Given the description of an element on the screen output the (x, y) to click on. 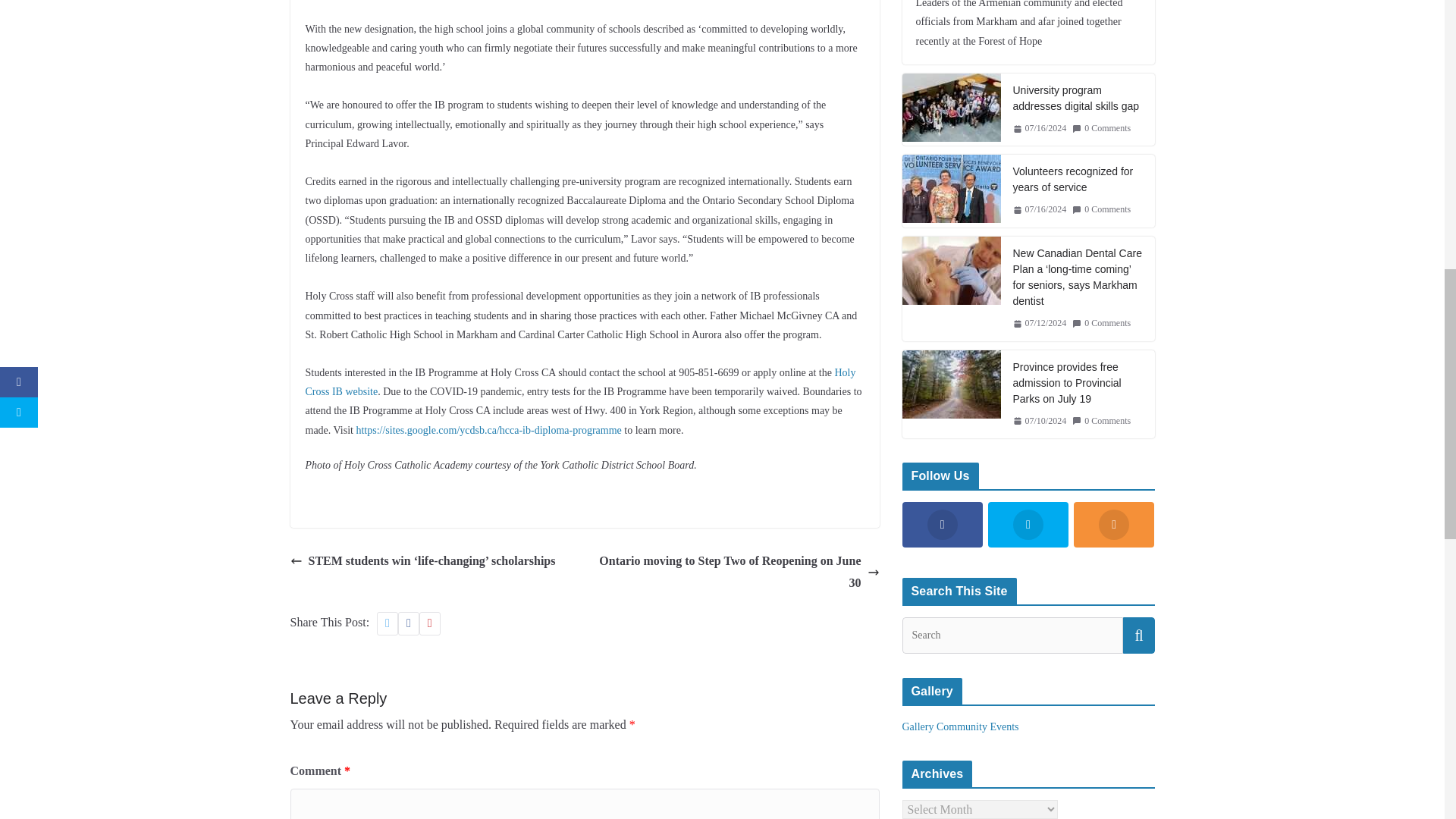
Holy Cross IB website (580, 381)
Ontario moving to Step Two of Reopening on June 30 (735, 572)
